Given the description of an element on the screen output the (x, y) to click on. 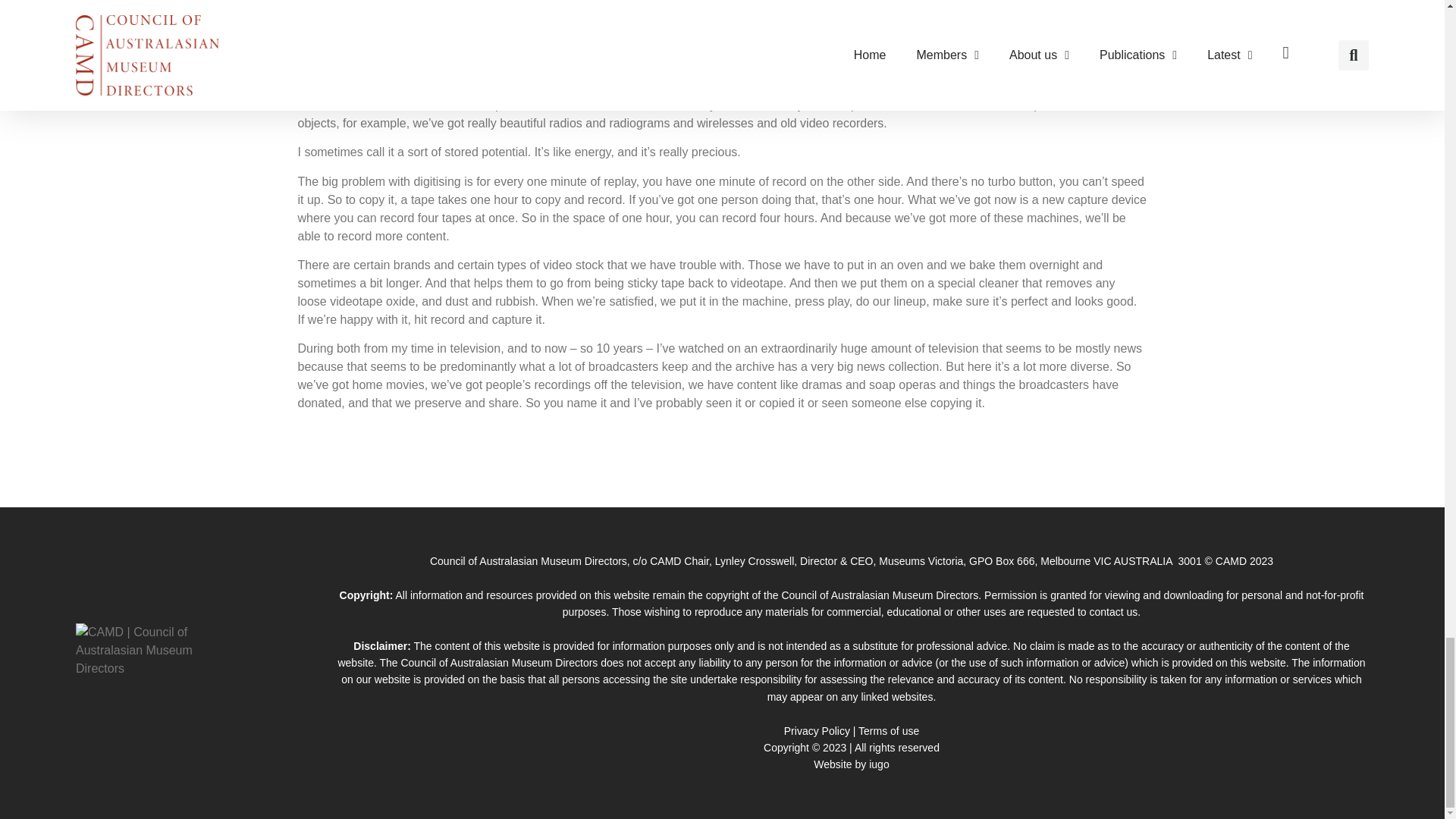
iugo (878, 764)
Privacy Policy (817, 730)
Terms of use (888, 730)
